Given the description of an element on the screen output the (x, y) to click on. 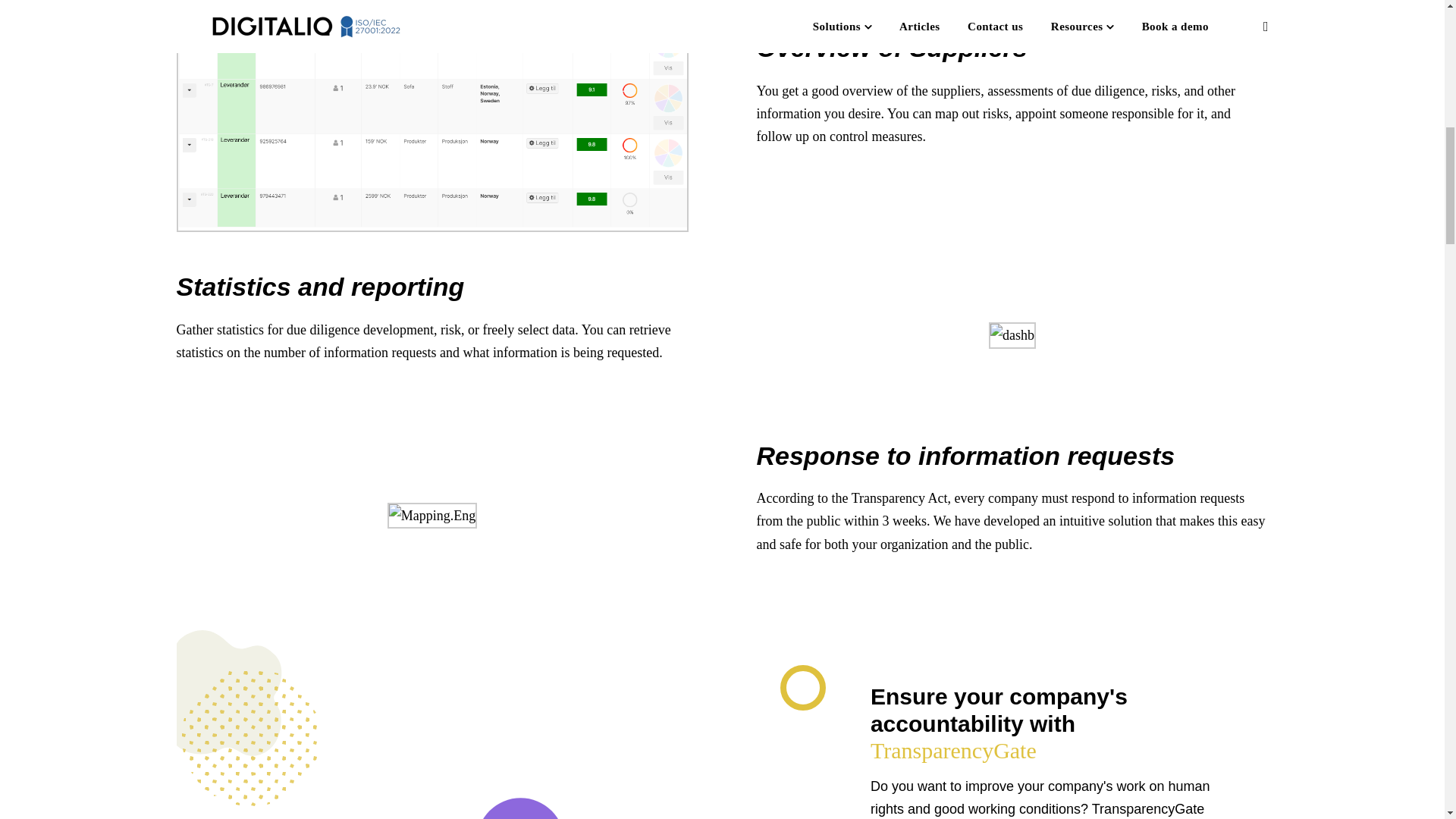
dashb (1011, 334)
Mapping.Eng (432, 515)
